Given the description of an element on the screen output the (x, y) to click on. 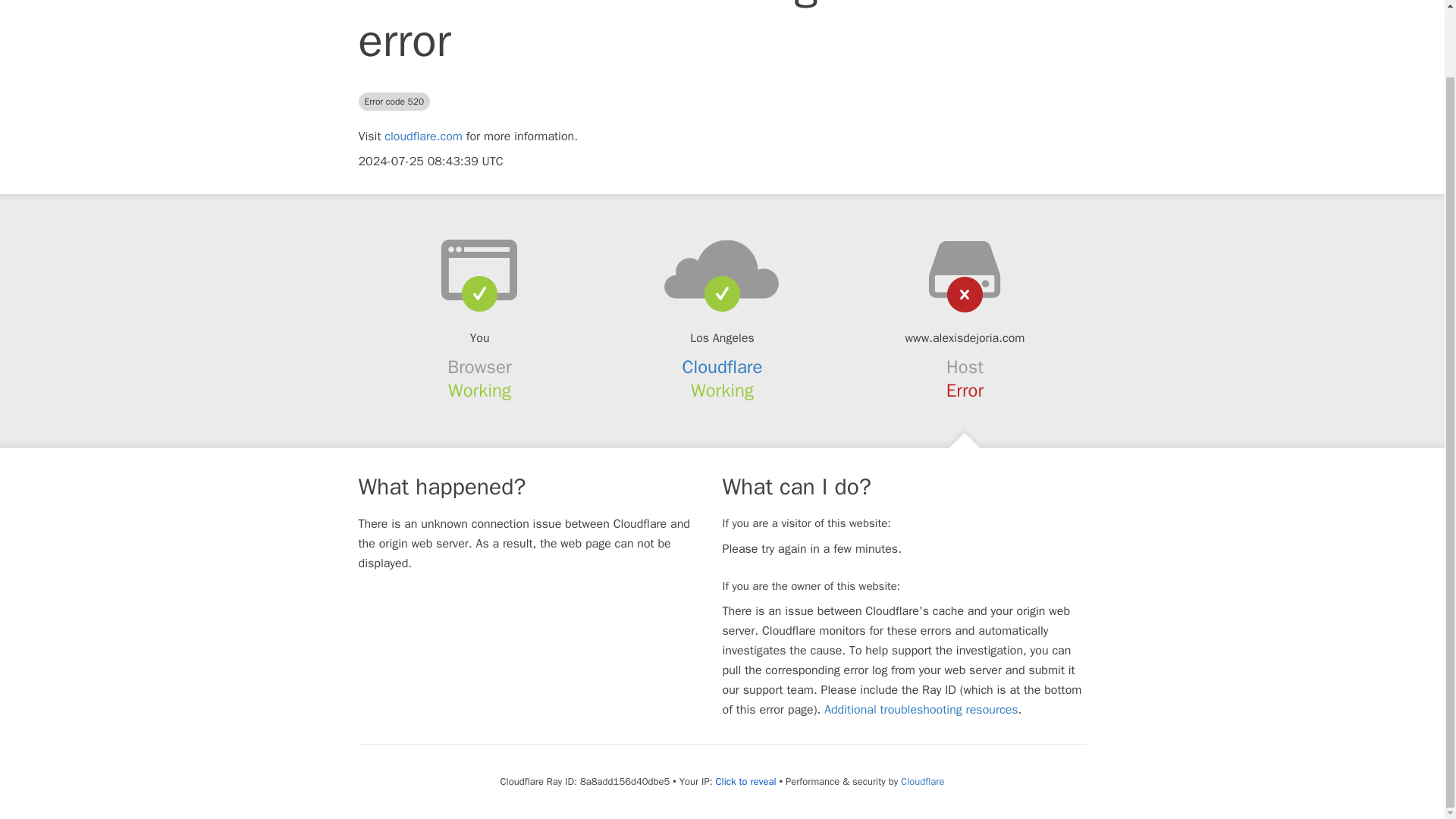
Cloudflare (722, 366)
cloudflare.com (423, 136)
Click to reveal (746, 781)
Cloudflare (922, 780)
Additional troubleshooting resources (920, 709)
